Given the description of an element on the screen output the (x, y) to click on. 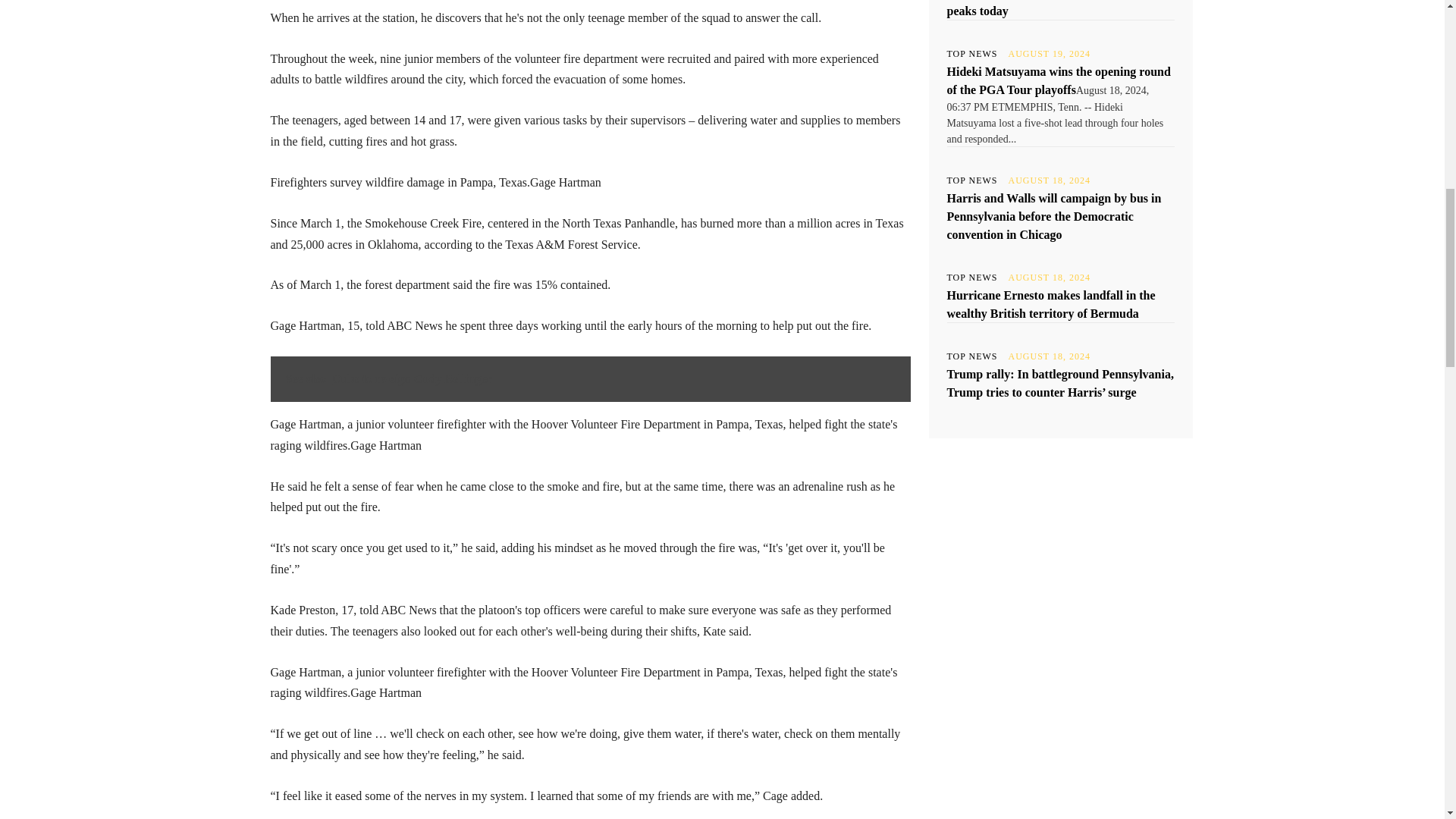
TOP NEWS (971, 356)
TOP NEWS (971, 180)
TOP NEWS (971, 276)
TOP NEWS (971, 53)
See also  Cubs to re-sign Cody Bellinger (589, 379)
